Given the description of an element on the screen output the (x, y) to click on. 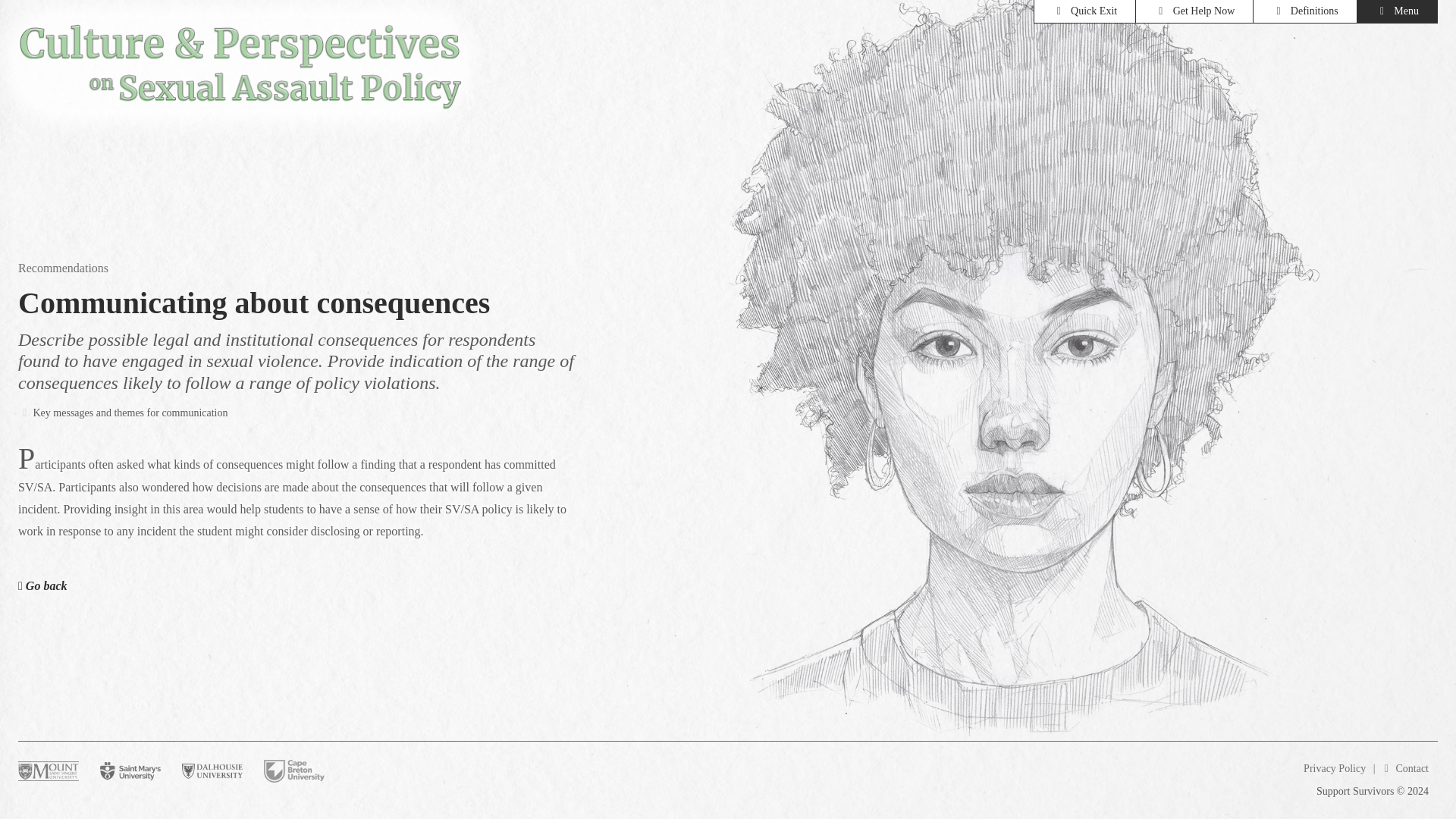
Get Help Now (1193, 11)
Recommendation Category (122, 413)
Quick Exit (1084, 11)
Definitions (1304, 11)
Recommendations (62, 267)
Contact (1403, 767)
Menu (1397, 11)
Go back (51, 585)
Privacy Policy (1334, 767)
